Given the description of an element on the screen output the (x, y) to click on. 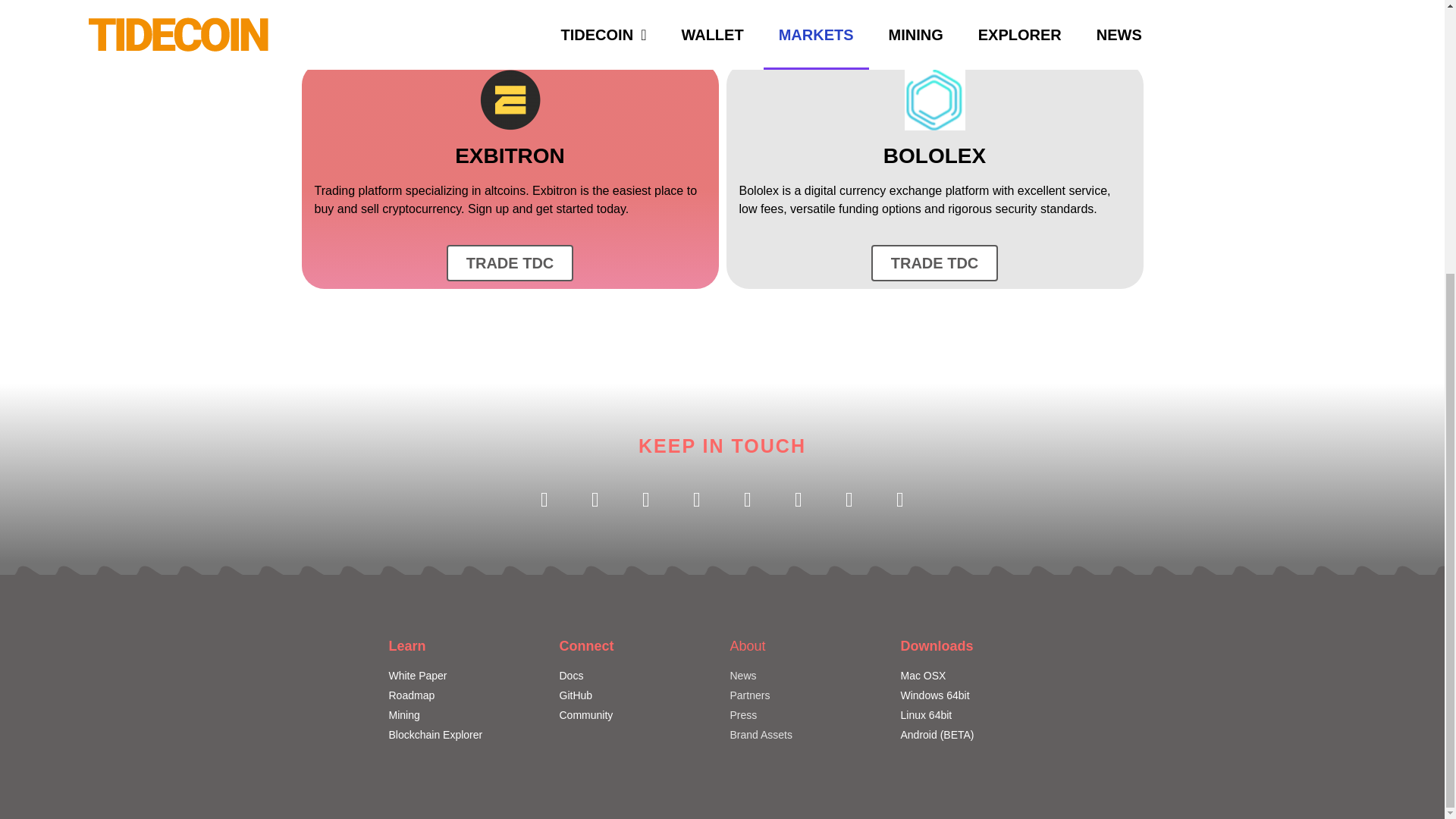
exbitron-icon (509, 99)
bololex-exchange (933, 99)
